Given the description of an element on the screen output the (x, y) to click on. 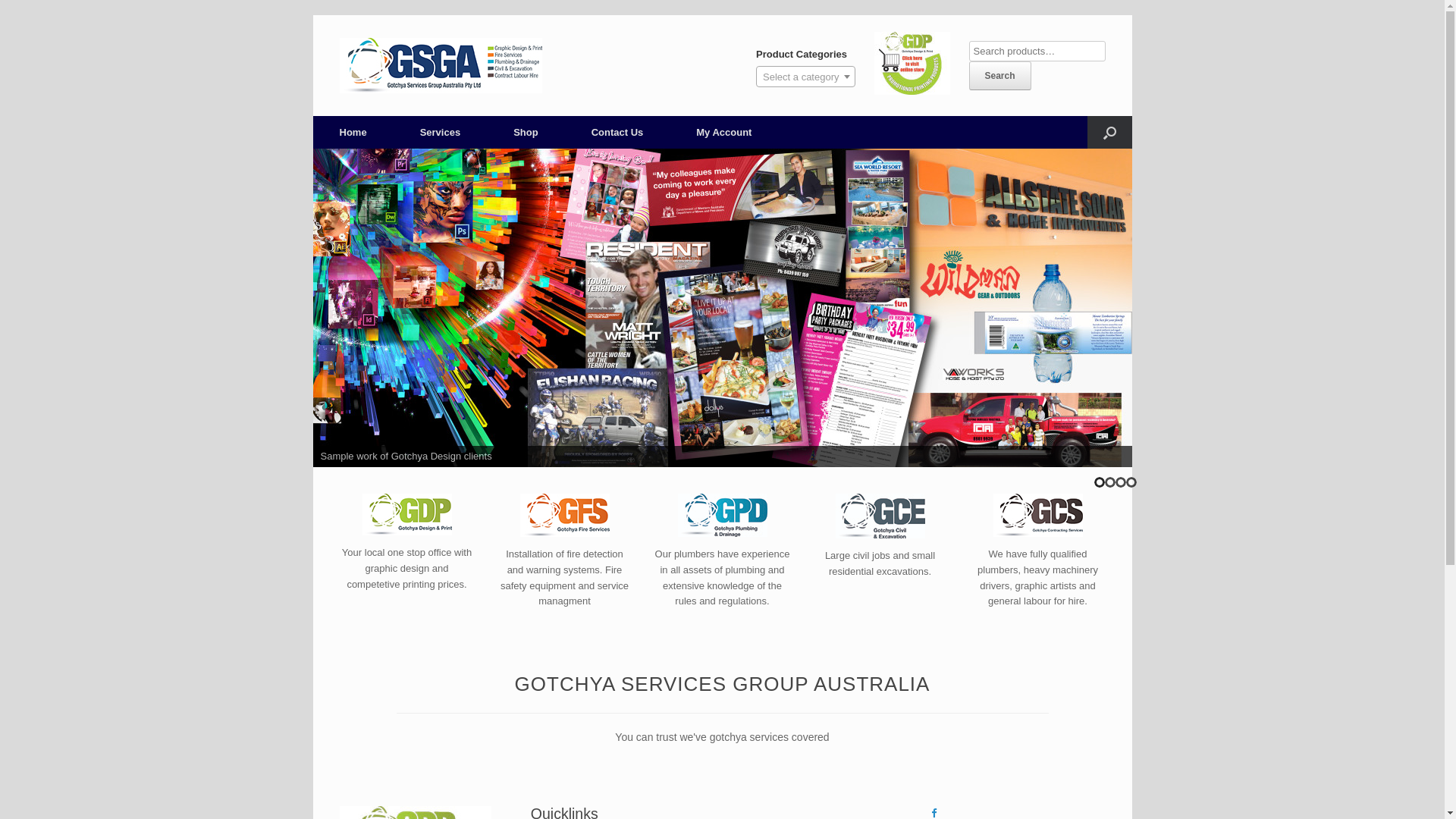
Shop Element type: text (525, 132)
Services Element type: text (440, 132)
3 Element type: text (1119, 481)
Contact Us Element type: text (617, 132)
Home Element type: text (352, 132)
Graphic Design & Print Collage Element type: hover (721, 307)
My Account Element type: text (723, 132)
1 Element type: text (1098, 481)
4 Element type: text (1130, 481)
2 Element type: text (1109, 481)
GSGA Element type: hover (440, 65)
Search Element type: text (1000, 75)
